Given the description of an element on the screen output the (x, y) to click on. 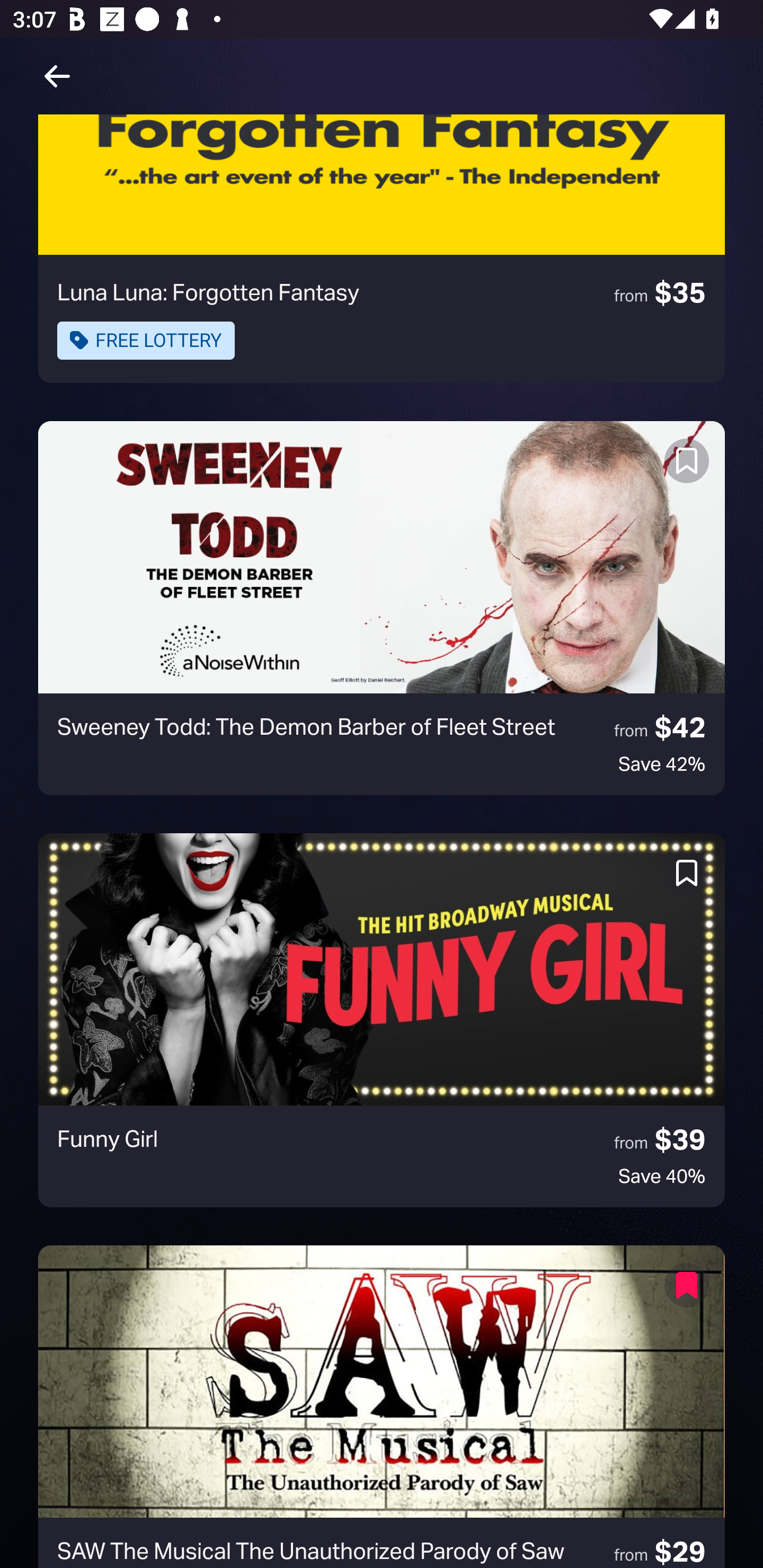
Luna Luna: Forgotten Fantasy from $35 FREE LOTTERY (381, 248)
Funny Girl from $39 Save 40% (381, 1019)
